Given the description of an element on the screen output the (x, y) to click on. 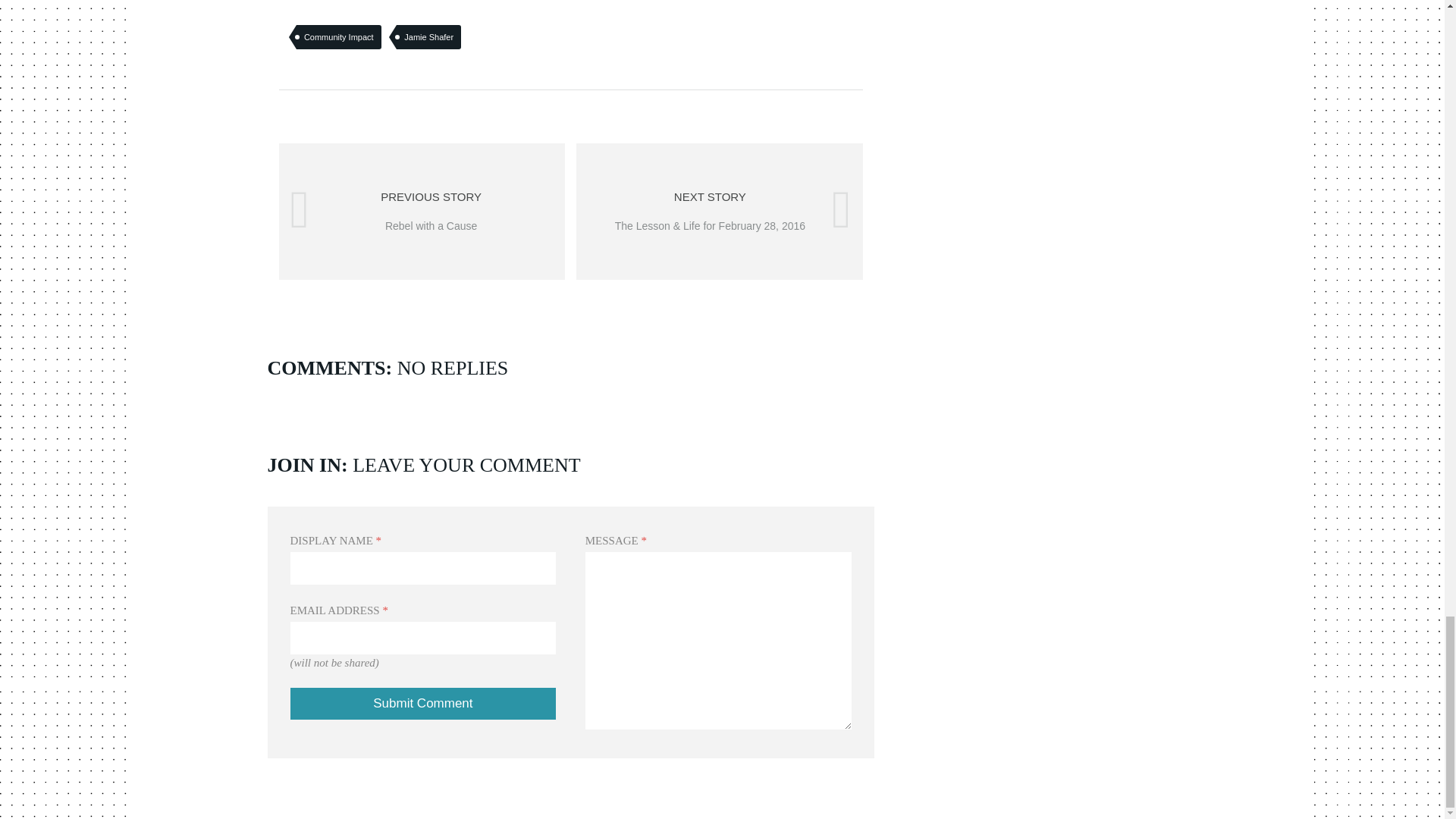
Community Impact (339, 37)
Submit Comment (422, 703)
Submit Comment (422, 703)
Jamie Shafer (421, 211)
